Given the description of an element on the screen output the (x, y) to click on. 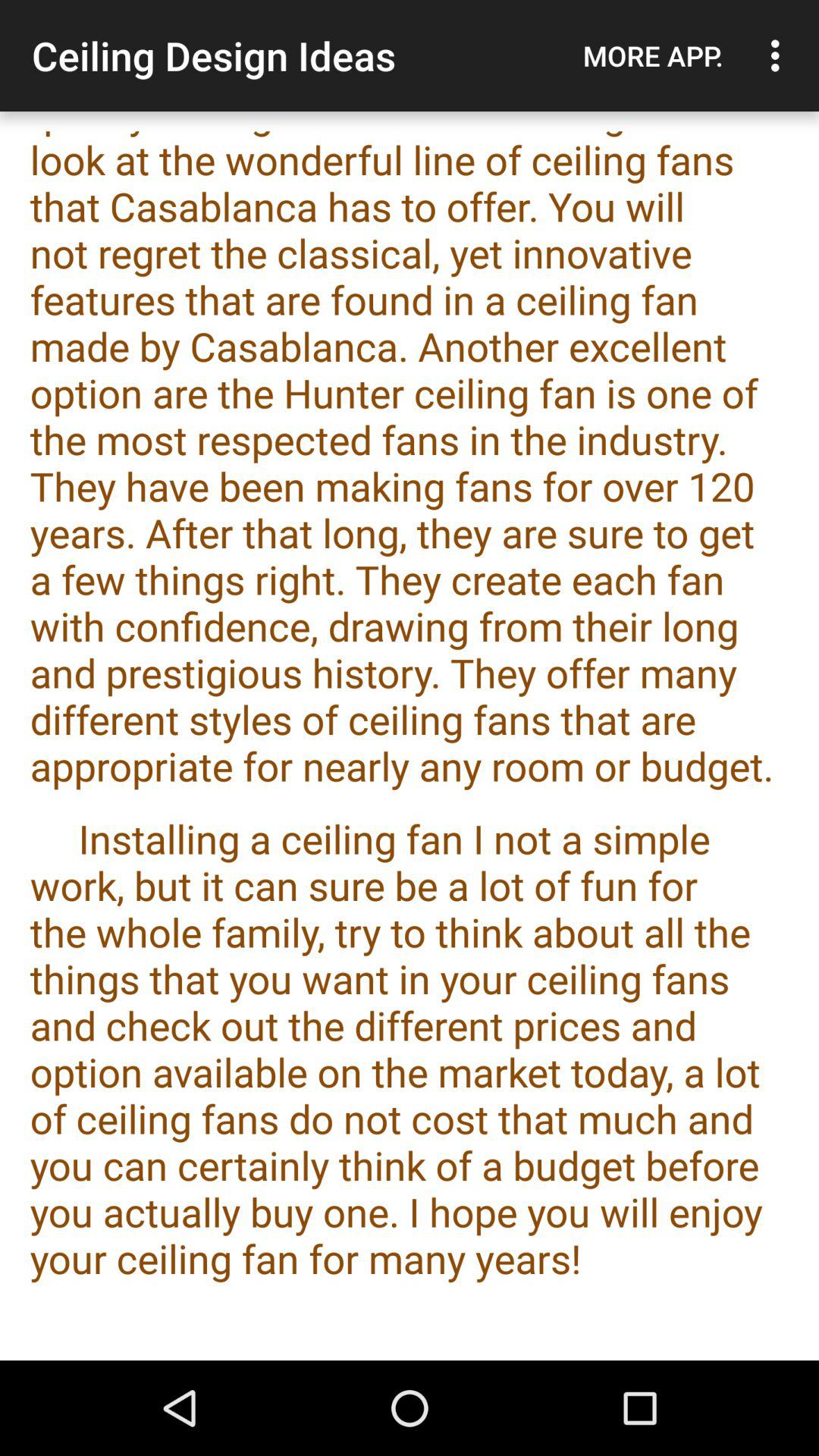
tap the icon above the the ceiling fan (779, 55)
